Given the description of an element on the screen output the (x, y) to click on. 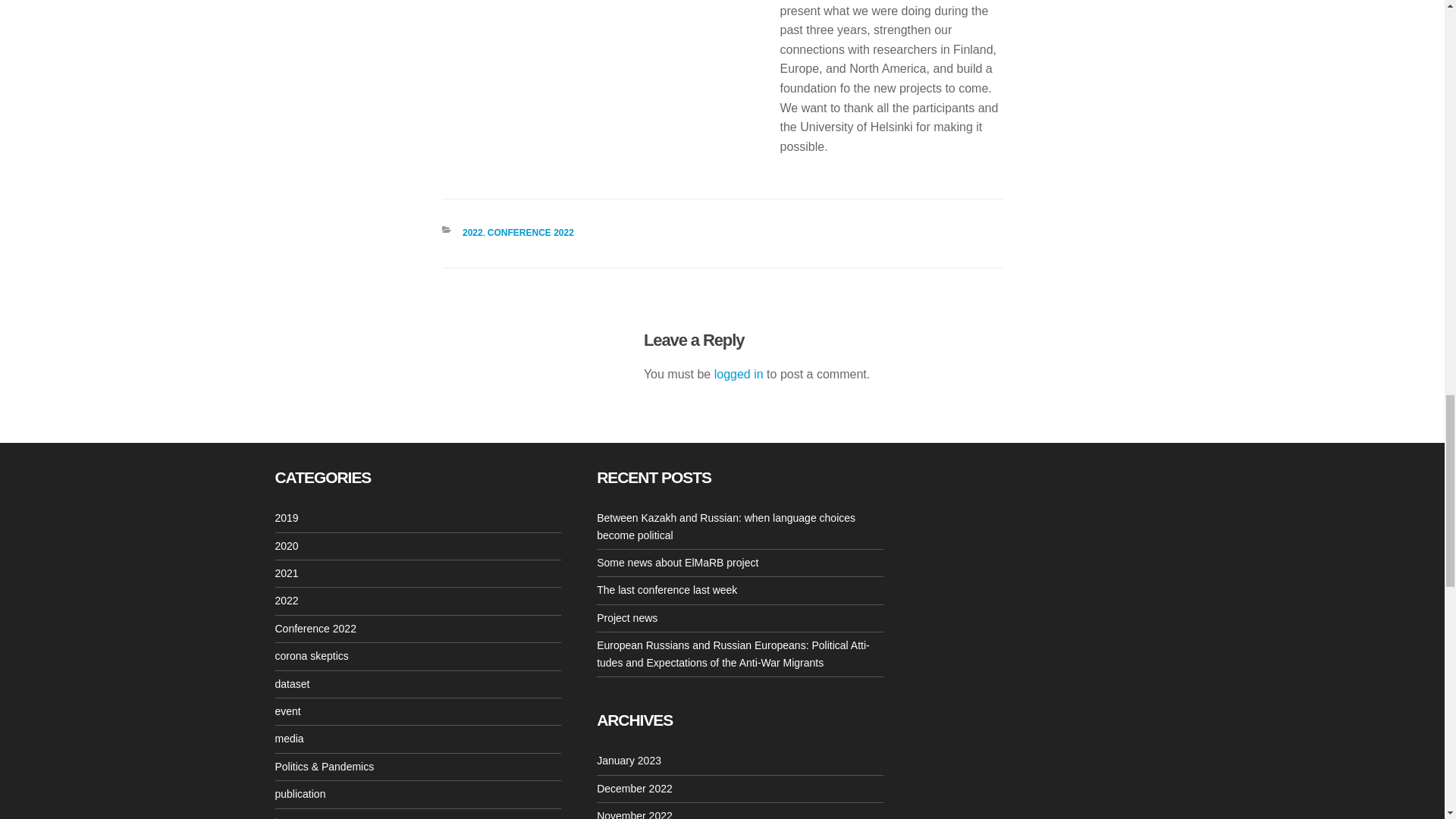
team (286, 817)
event (287, 711)
2019 (286, 517)
media (288, 738)
2022 (473, 232)
publication (299, 793)
Some news about ElMaRB project (677, 562)
2022 (286, 600)
logged in (738, 373)
dataset (291, 684)
